Given the description of an element on the screen output the (x, y) to click on. 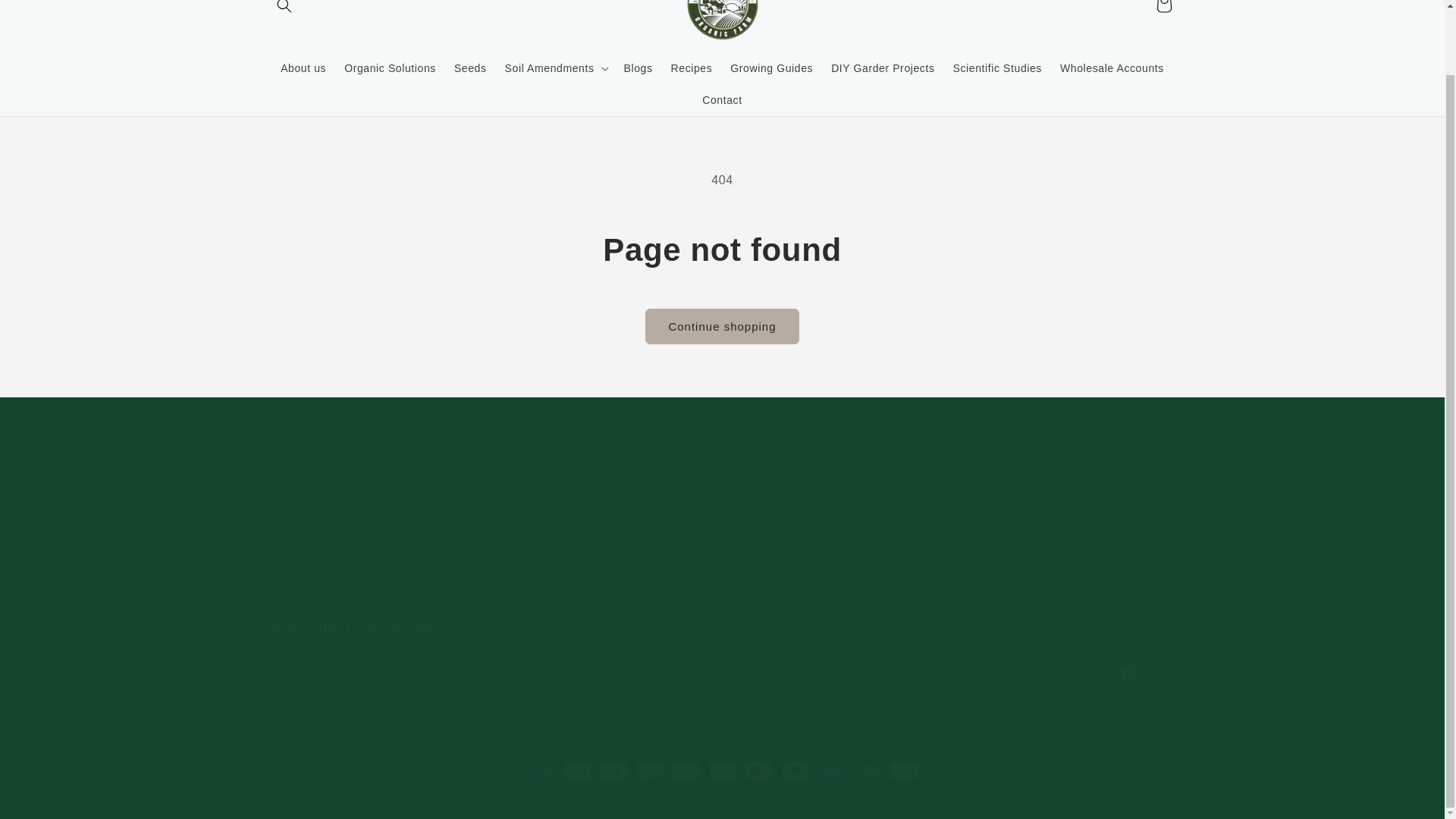
Recipes (721, 654)
Organic Solutions (692, 68)
Blogs (389, 68)
About us (638, 68)
Seeds (302, 68)
